Given the description of an element on the screen output the (x, y) to click on. 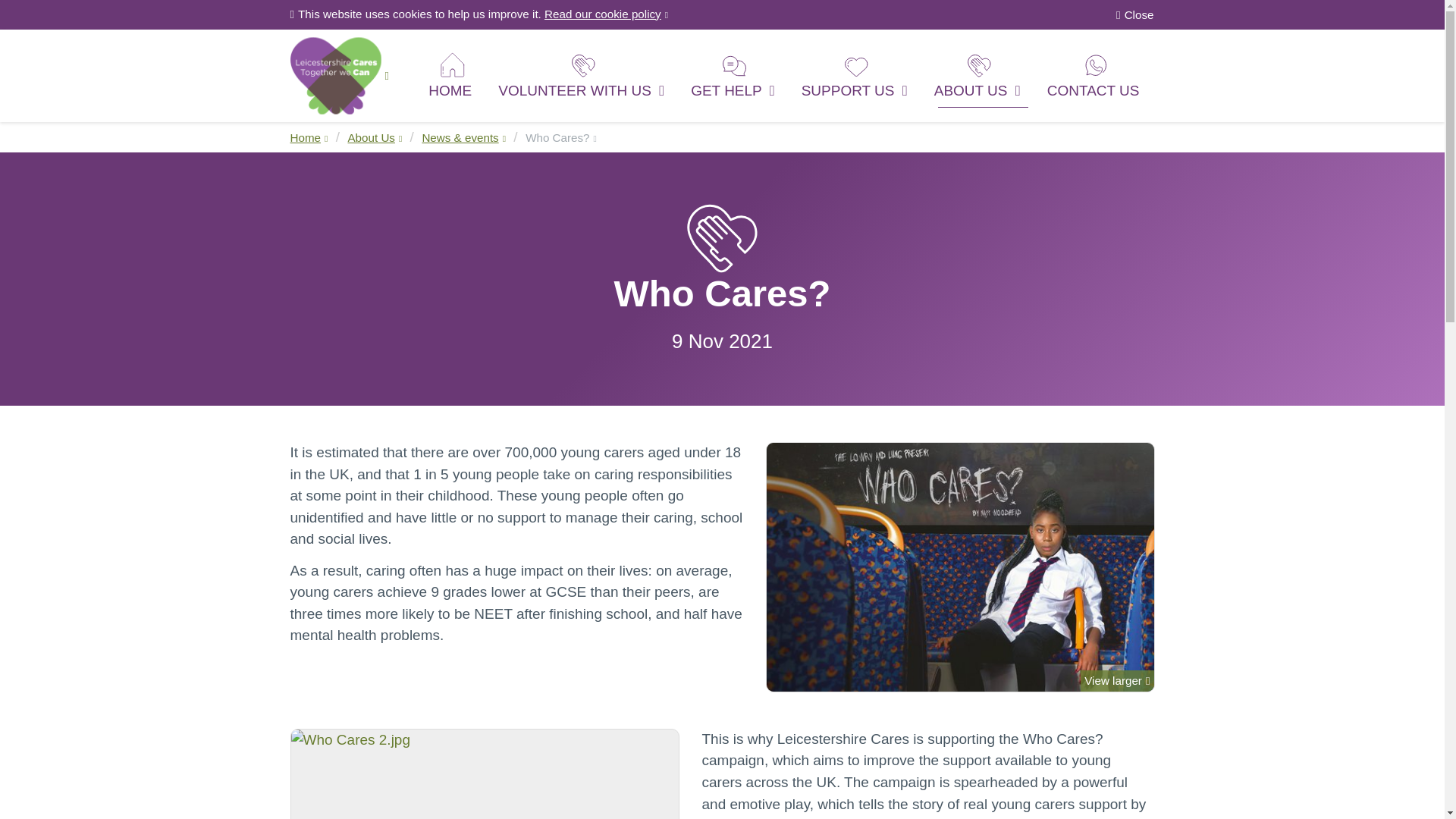
Close (1134, 14)
About Us (374, 137)
Go to home page (338, 74)
ABOUT US (979, 74)
GET HELP (734, 74)
Read our cookie policy (606, 13)
Who Cares? (560, 137)
Home (308, 137)
VOLUNTEER WITH US (582, 74)
View larger (959, 567)
